Given the description of an element on the screen output the (x, y) to click on. 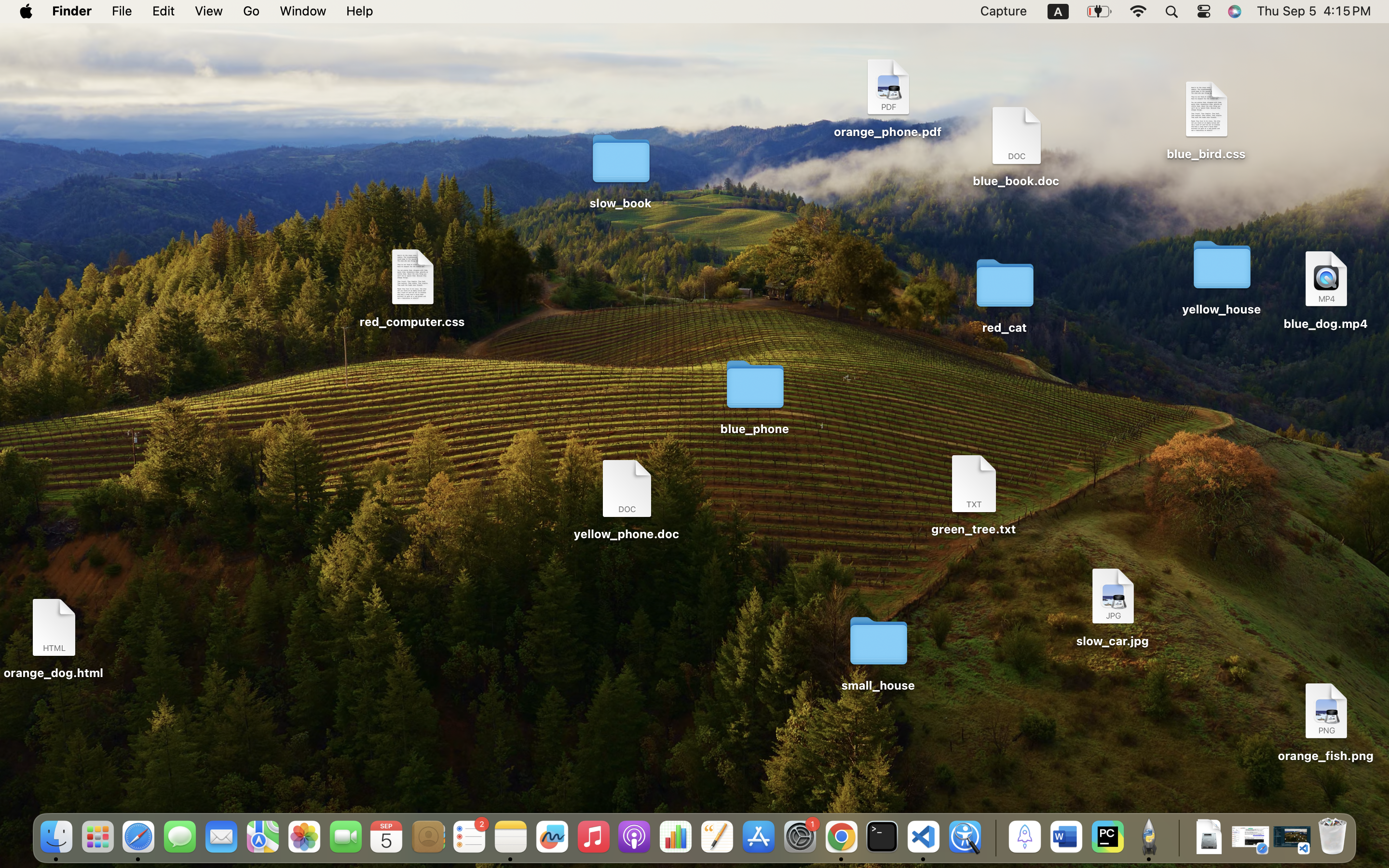
0.4285714328289032 Element type: AXDockItem (993, 837)
